Given the description of an element on the screen output the (x, y) to click on. 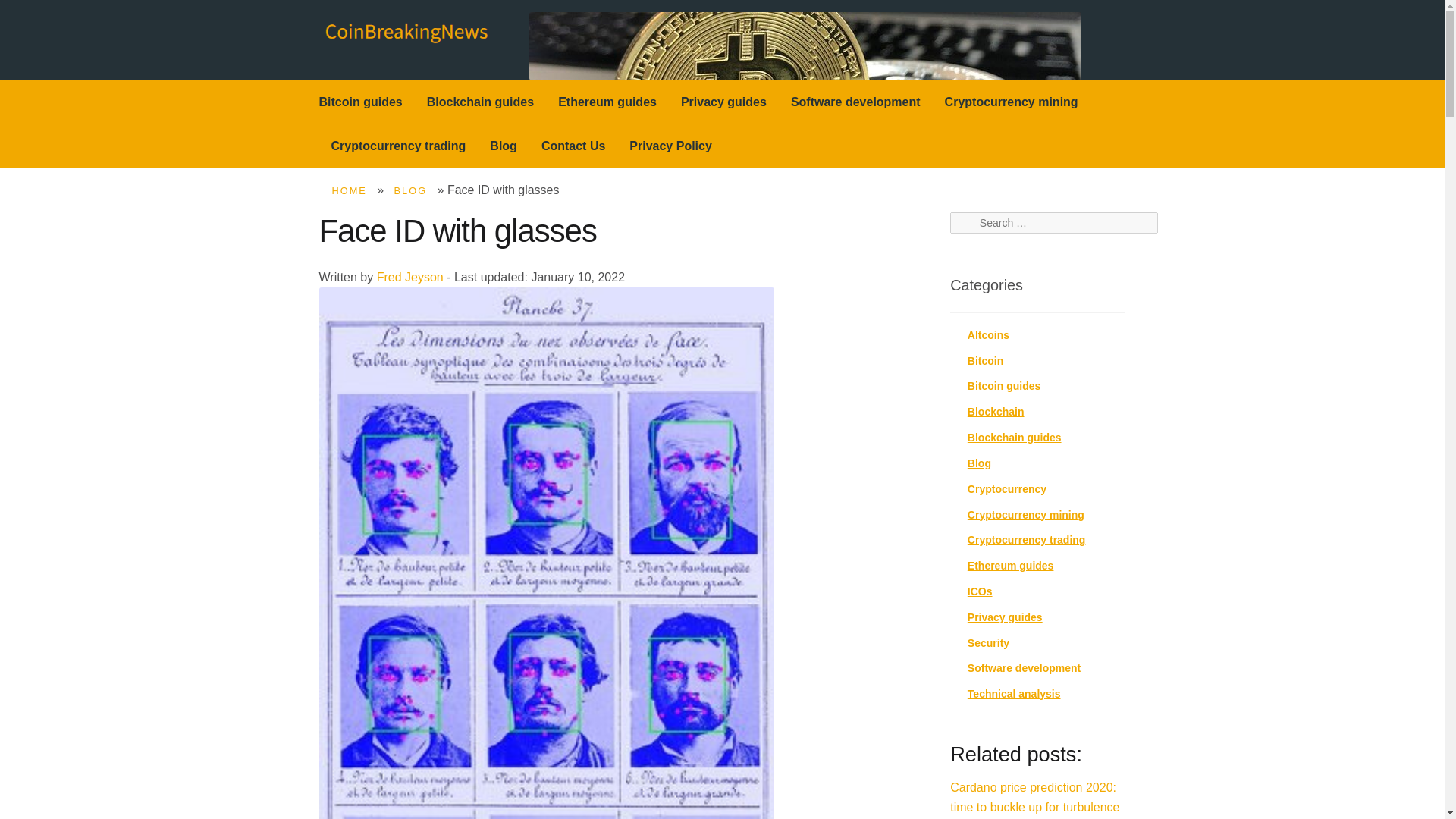
Software development (1024, 667)
Search (972, 223)
Bitcoin guides (1004, 386)
Privacy guides (1005, 616)
Cryptocurrency trading (1027, 539)
Blockchain (996, 411)
Ethereum guides (607, 102)
Software development (855, 102)
BLOG (411, 191)
